Given the description of an element on the screen output the (x, y) to click on. 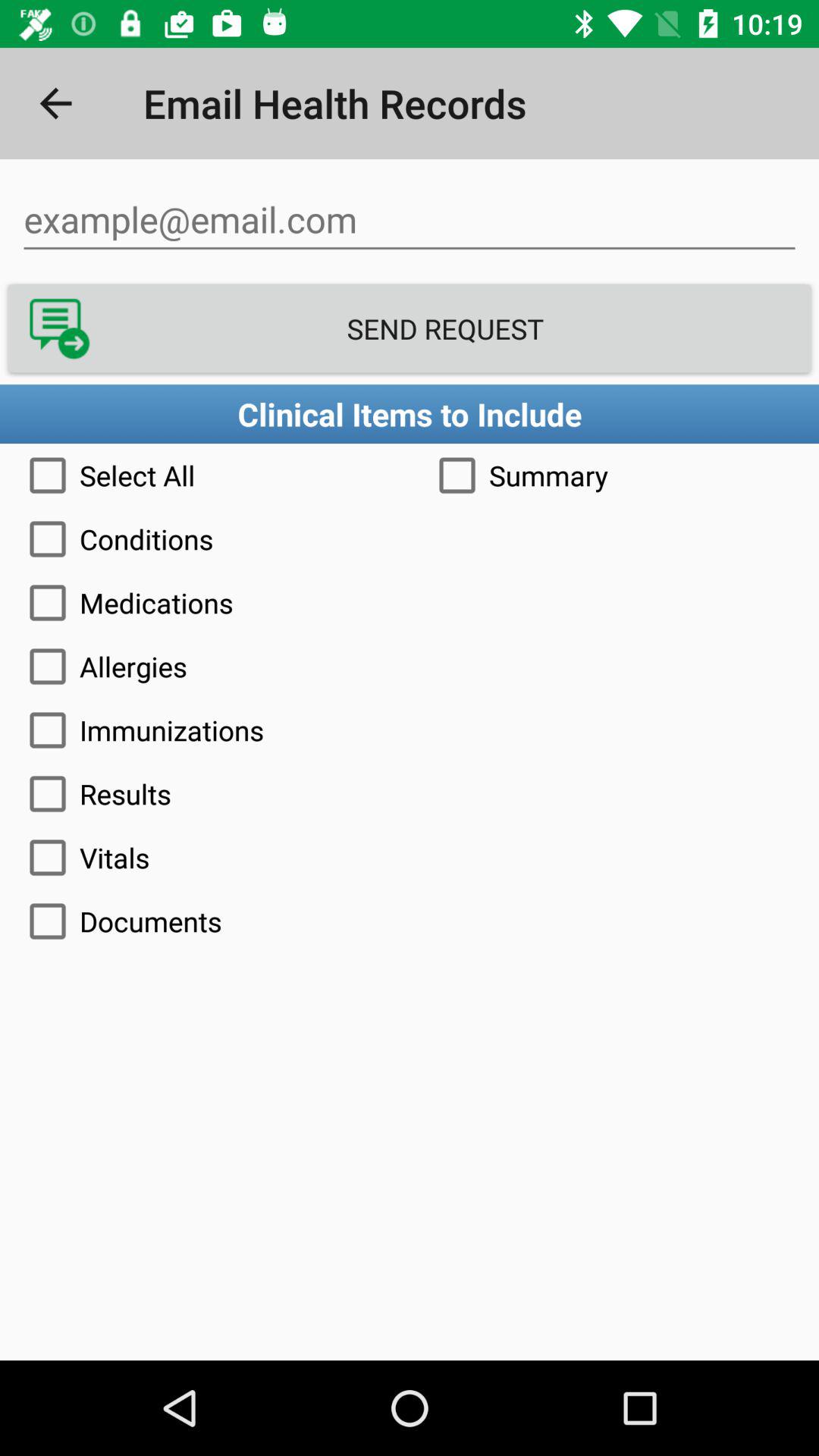
turn on send request item (409, 328)
